Given the description of an element on the screen output the (x, y) to click on. 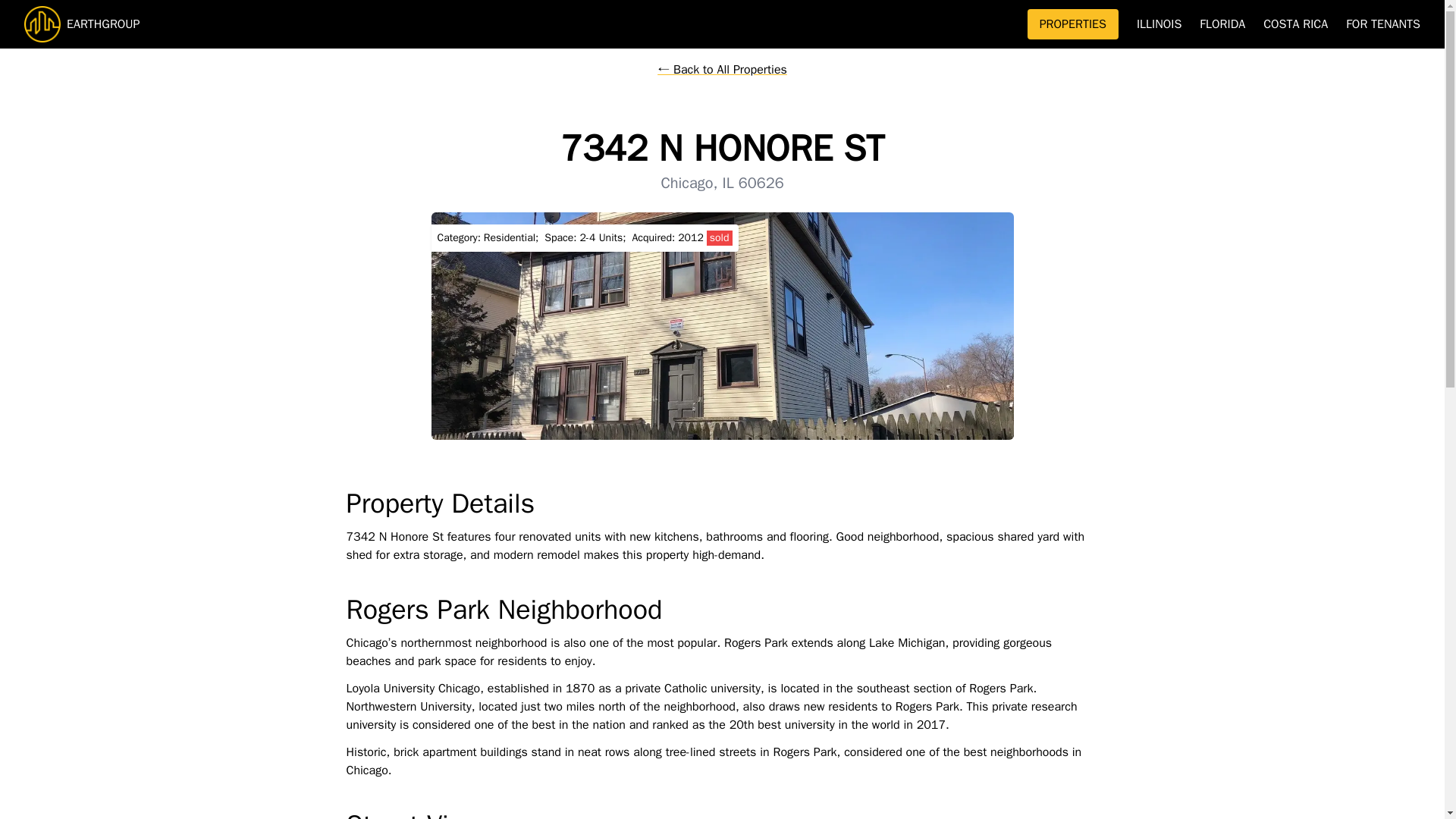
PROPERTIES (1072, 23)
EARTHGROUP (525, 23)
FLORIDA (1221, 24)
FOR TENANTS (1383, 24)
PROPERTIES (1072, 24)
COSTA RICA (1295, 24)
ILLINOIS (1158, 24)
